Given the description of an element on the screen output the (x, y) to click on. 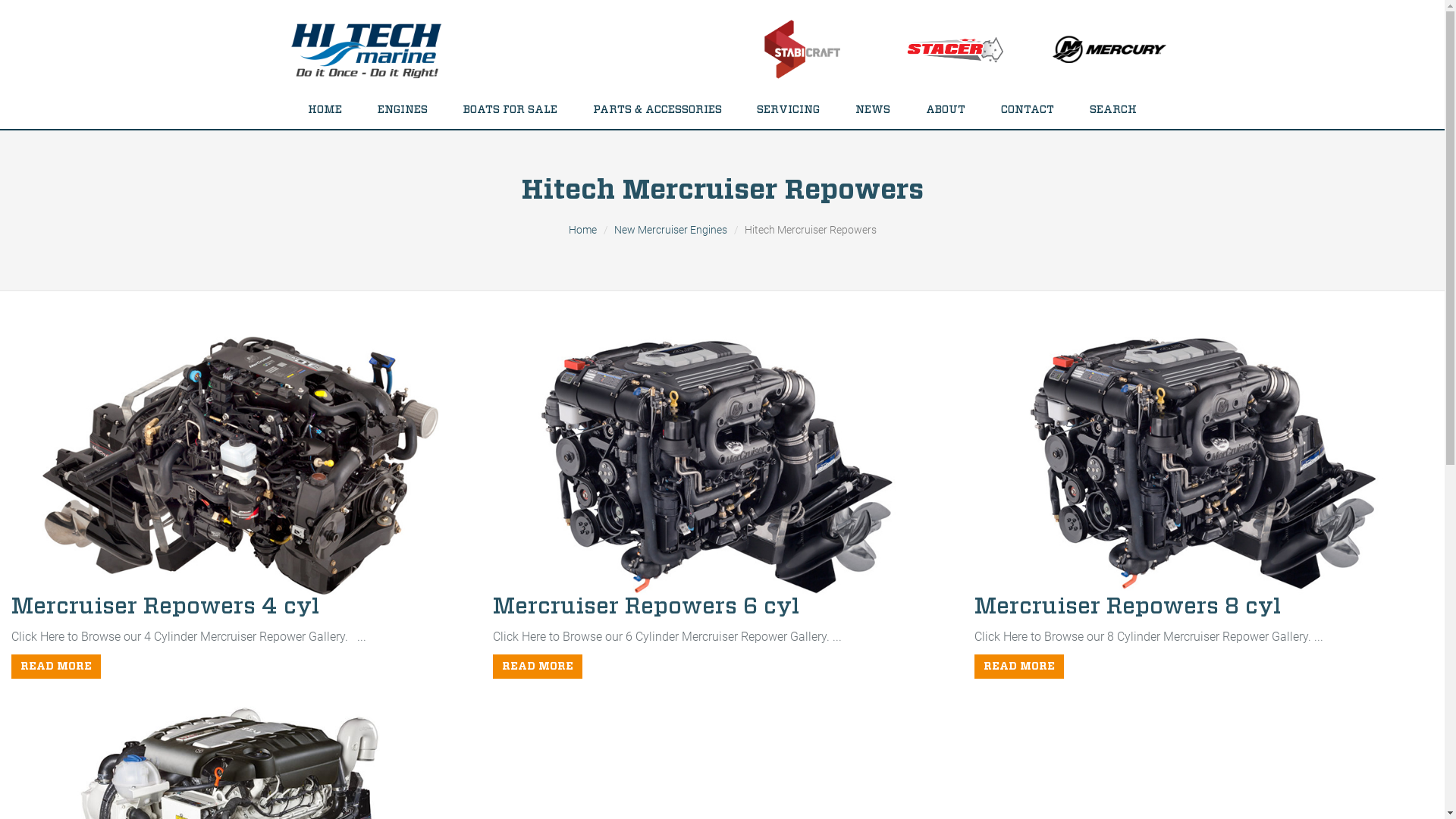
SERVICING Element type: text (788, 109)
CONTACT Element type: text (1027, 109)
ABOUT Element type: text (945, 109)
BOATS FOR SALE Element type: text (509, 109)
Mercruiser Repowers 6 cyl Element type: text (645, 606)
READ MORE Element type: text (55, 666)
NEWS Element type: text (872, 109)
PARTS & ACCESSORIES Element type: text (656, 109)
READ MORE Element type: text (537, 666)
HOME Element type: text (324, 109)
New Mercruiser Engines Element type: text (670, 229)
SEARCH Element type: text (1113, 109)
ENGINES Element type: text (402, 109)
READ MORE Element type: text (1018, 666)
Mercruiser Repowers 4 cyl Element type: text (165, 606)
Home Element type: text (582, 229)
Mercruiser Repowers 8 cyl Element type: text (1127, 606)
